Given the description of an element on the screen output the (x, y) to click on. 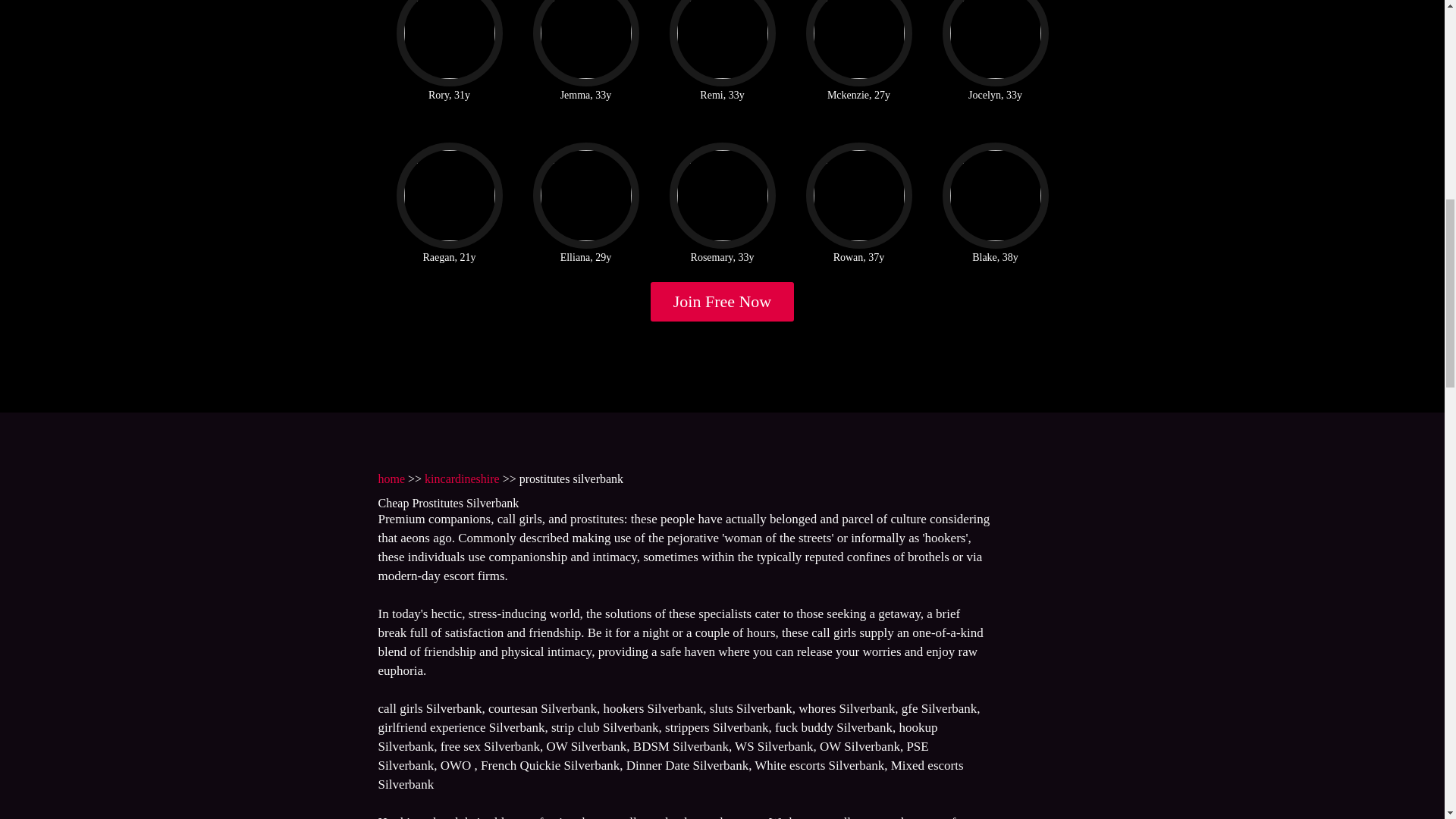
Join Free Now (722, 301)
home (390, 478)
kincardineshire (462, 478)
Join (722, 301)
